Given the description of an element on the screen output the (x, y) to click on. 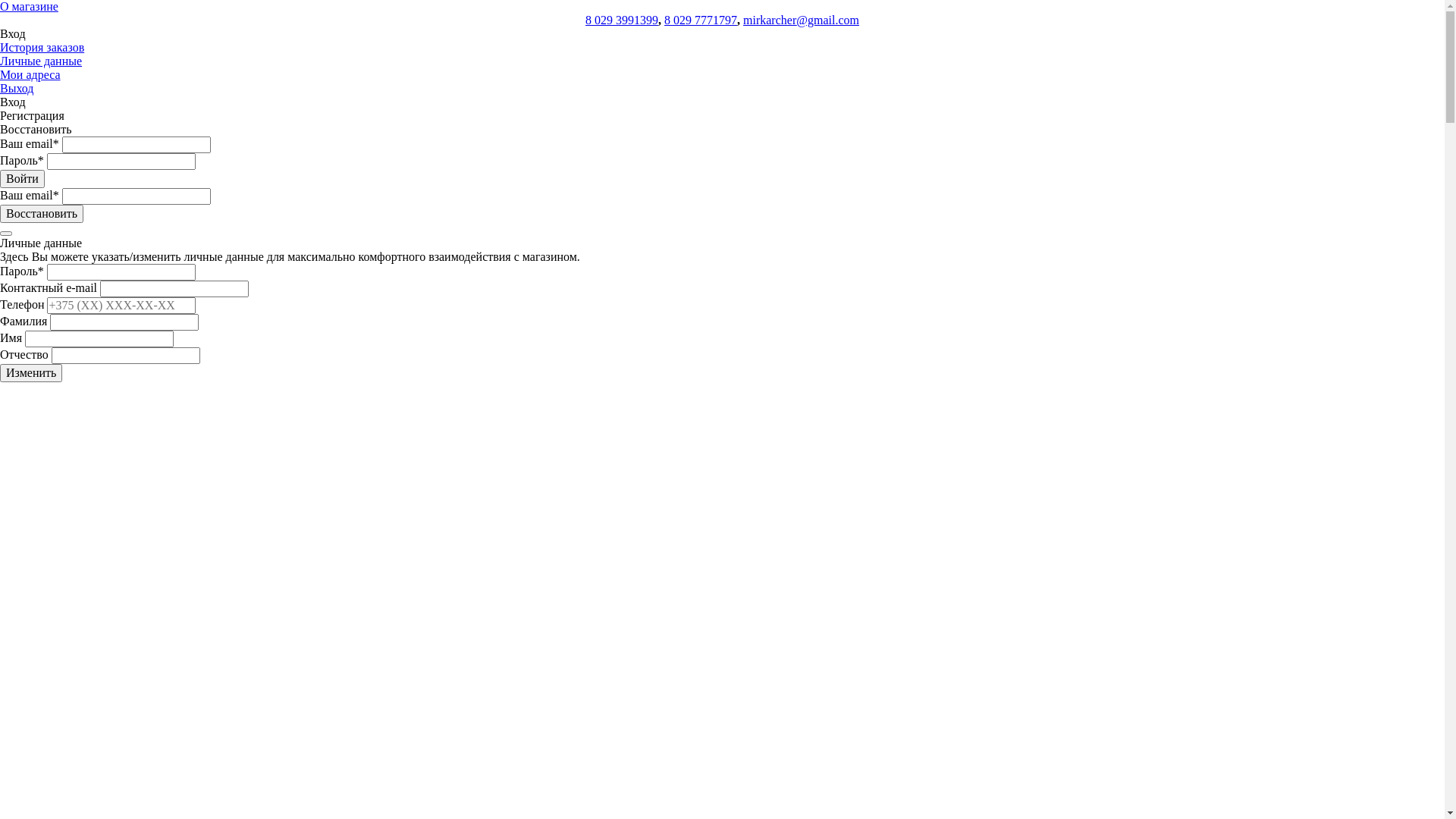
8 029 7771797 Element type: text (700, 19)
8 029 3991399 Element type: text (621, 19)
mirkarcher@gmail.com Element type: text (801, 19)
